Given the description of an element on the screen output the (x, y) to click on. 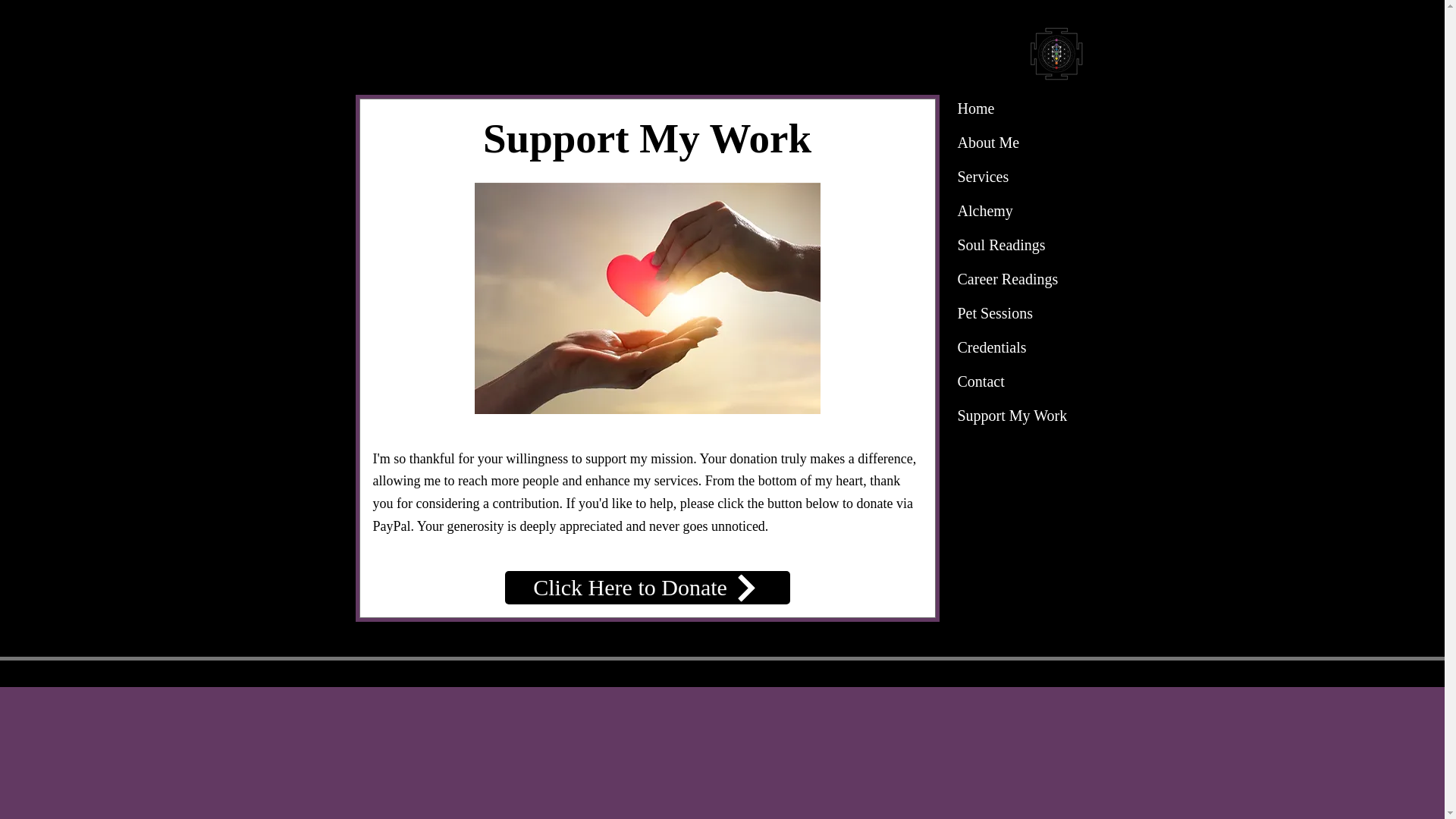
Career Readings (1007, 278)
Credentials (991, 347)
Click Here to Donate (647, 587)
Alchemy (984, 210)
Services (982, 176)
Soul Readings (1000, 245)
Pet Sessions (994, 313)
Contact (980, 381)
About Me (987, 142)
Home (975, 108)
Support My Work (1011, 415)
